Given the description of an element on the screen output the (x, y) to click on. 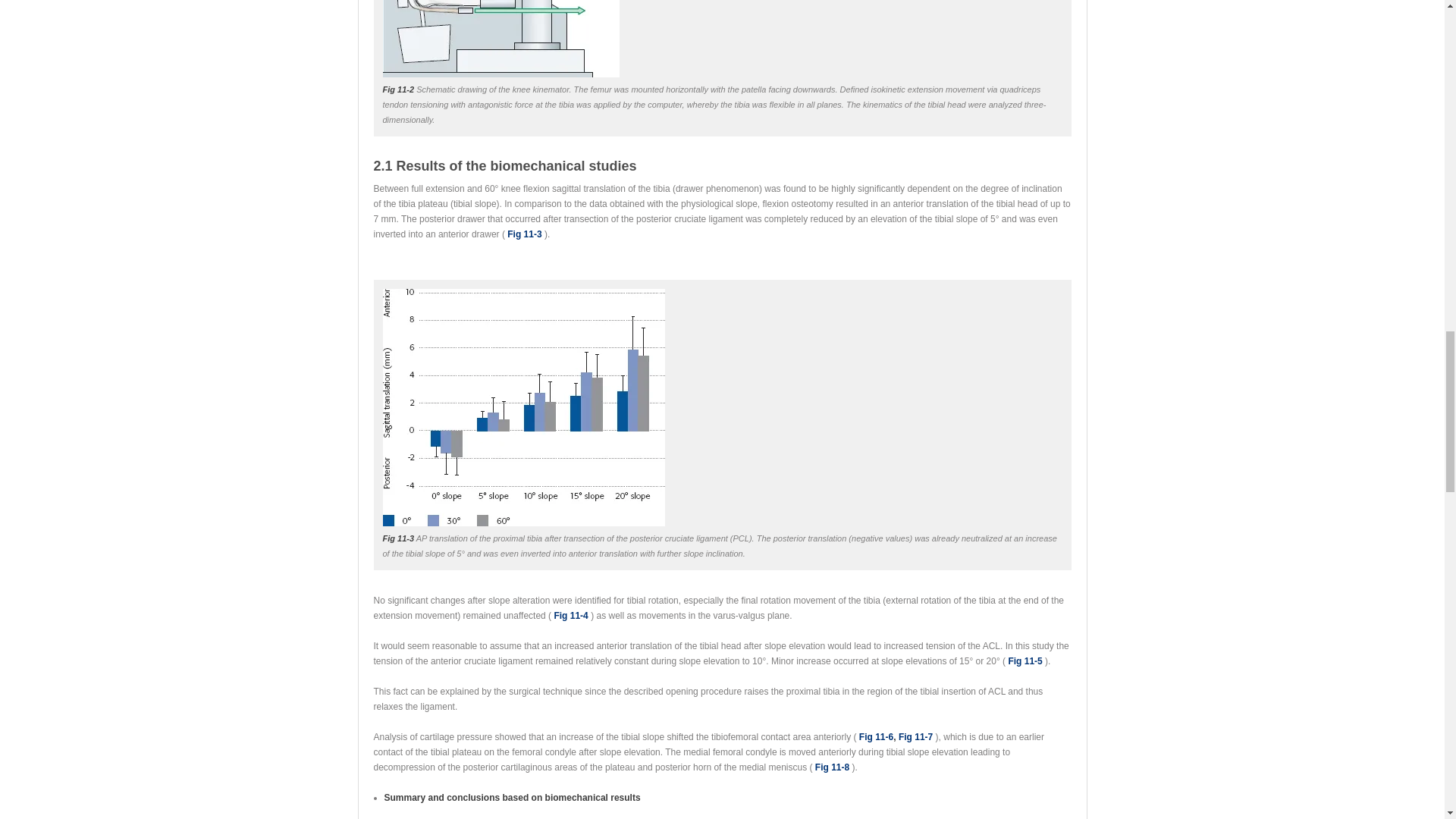
Fig 11-5 (1024, 661)
Fig 11-8 (831, 767)
Fig 11-7 (915, 737)
Fig 11-3 (523, 234)
Fig 11-6 (876, 737)
Fig 11-4 (570, 615)
